Given the description of an element on the screen output the (x, y) to click on. 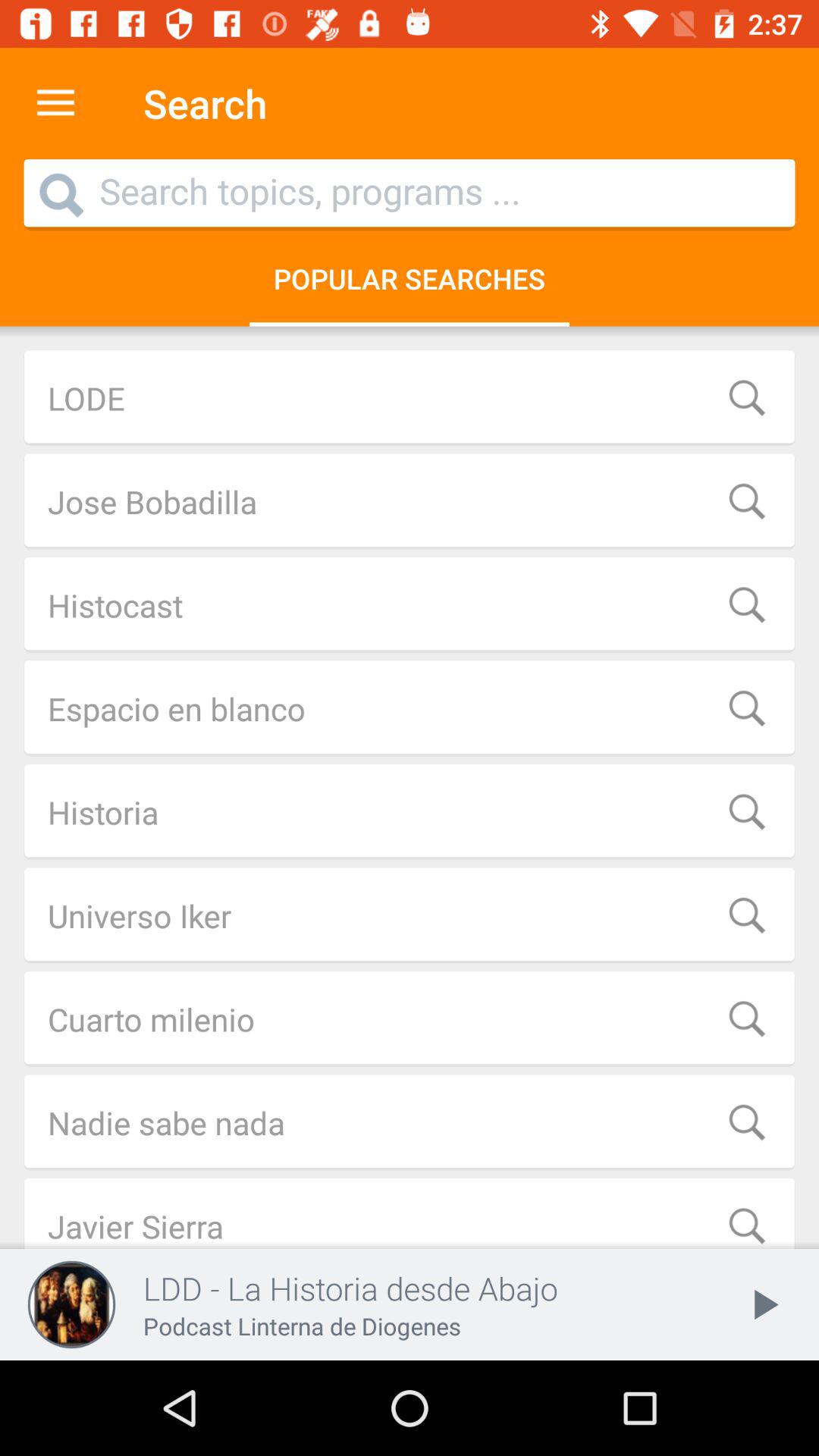
click the universo iker item (409, 915)
